Given the description of an element on the screen output the (x, y) to click on. 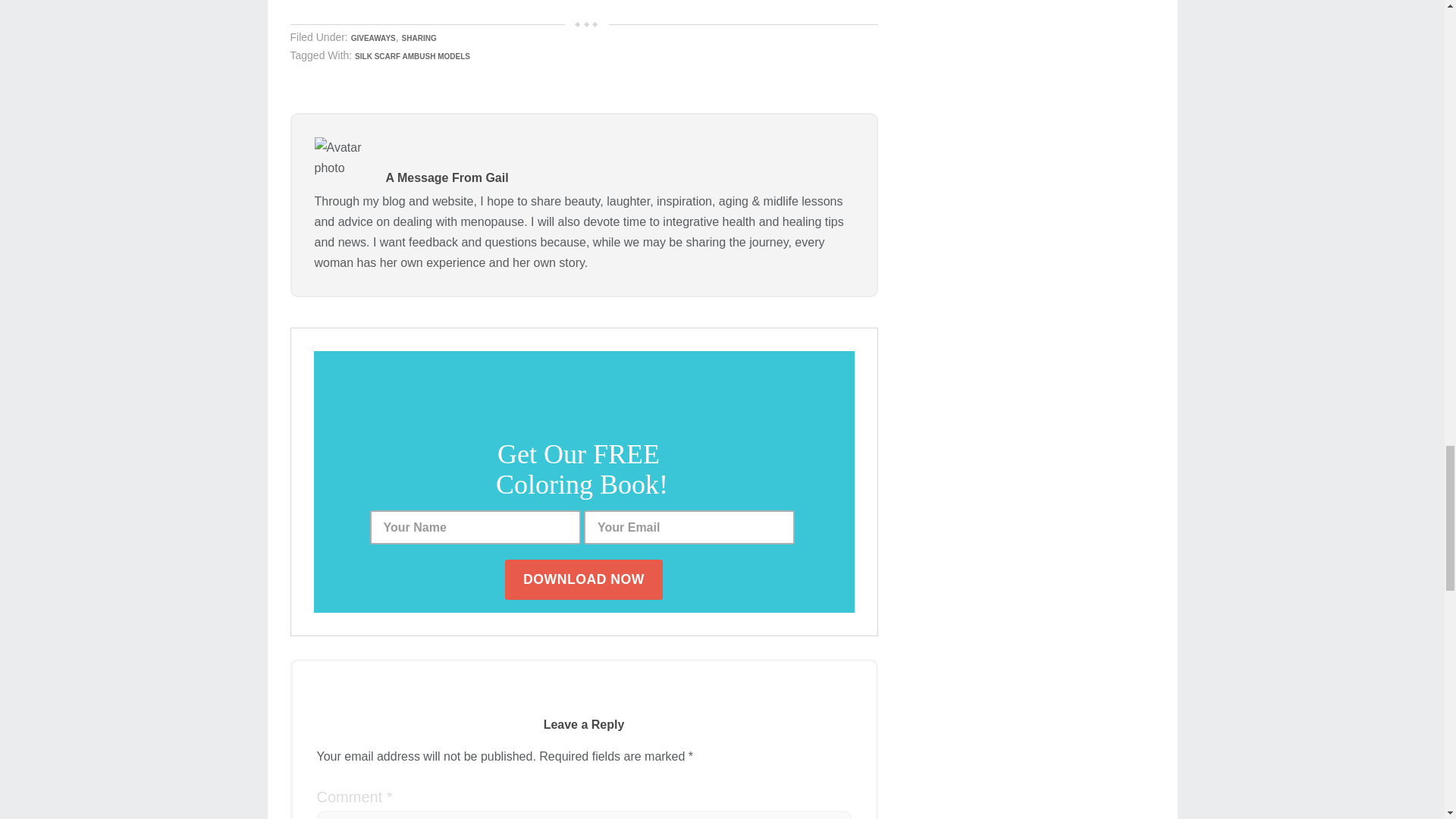
GIVEAWAYS (373, 38)
Download Now (583, 579)
SHARING (418, 38)
Download Now (583, 579)
SILK SCARF AMBUSH MODELS (412, 56)
